Given the description of an element on the screen output the (x, y) to click on. 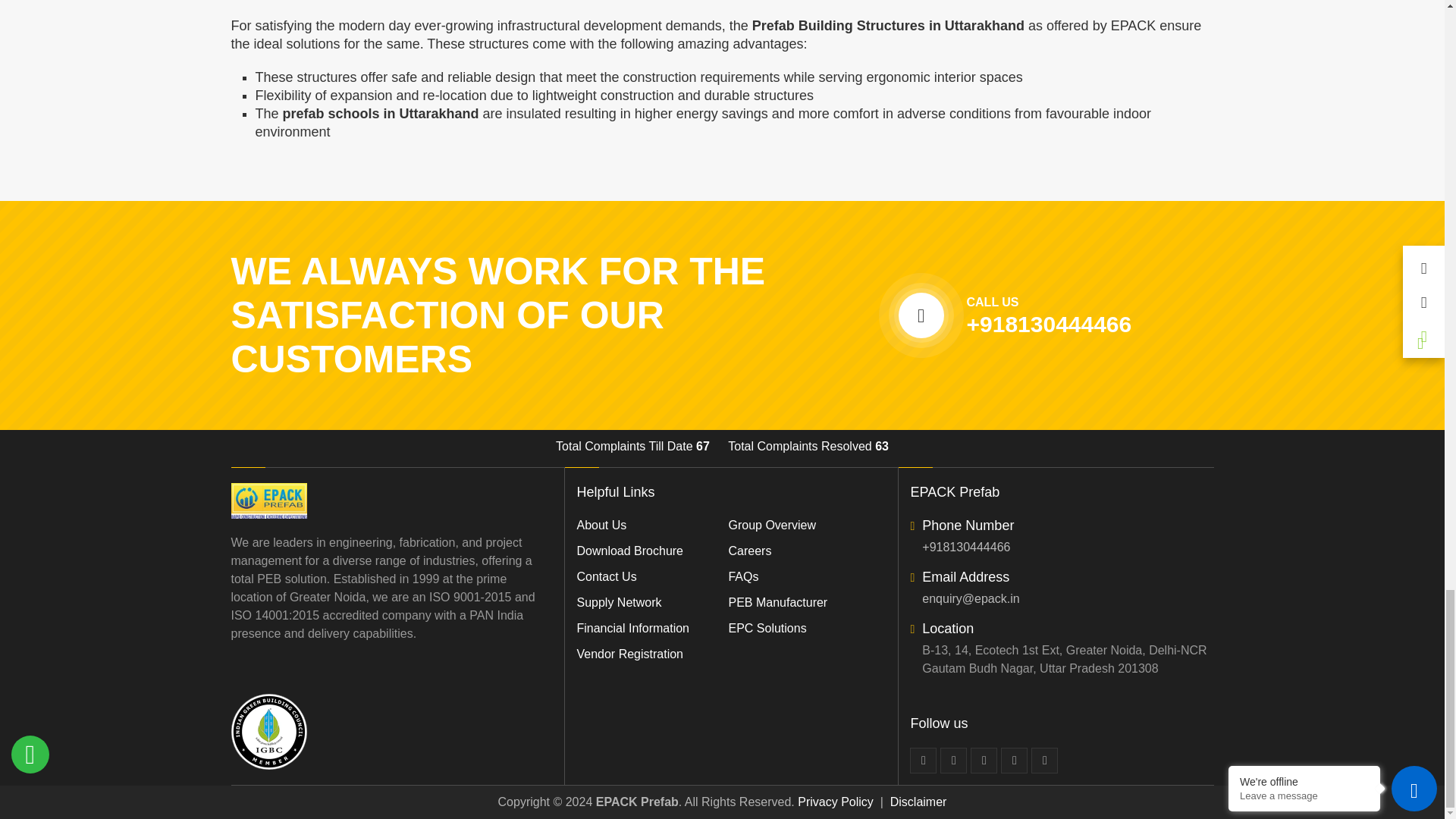
Facebook (923, 760)
Instagram (1044, 760)
Linkedin (984, 760)
Youtube (1014, 760)
Twitter (953, 760)
